Given the description of an element on the screen output the (x, y) to click on. 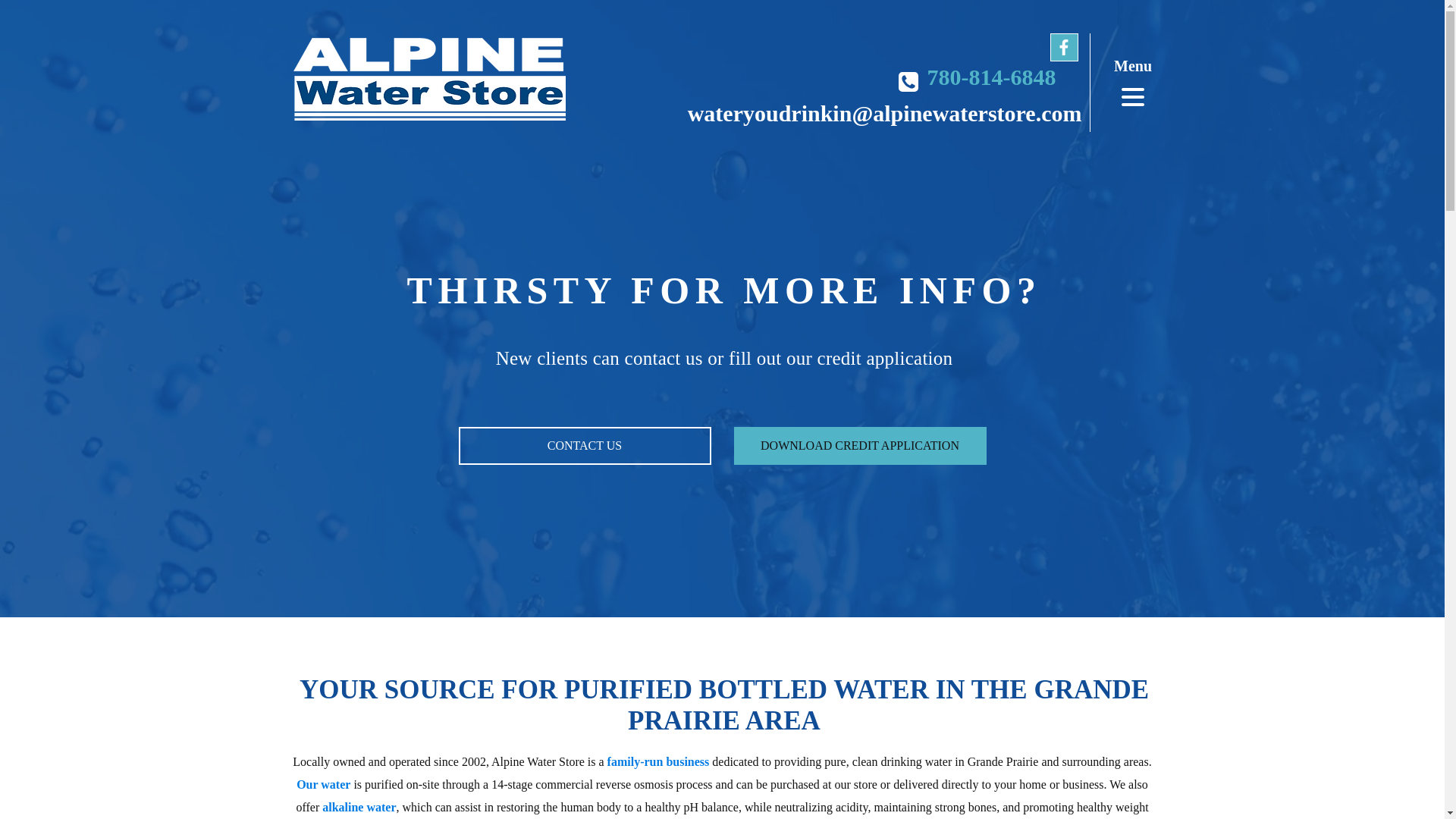
family-run business (658, 763)
alkaline water (358, 808)
Our water (323, 786)
CONTACT US (584, 445)
780-814-6848 (990, 81)
DOWNLOAD CREDIT APPLICATION (860, 445)
